Given the description of an element on the screen output the (x, y) to click on. 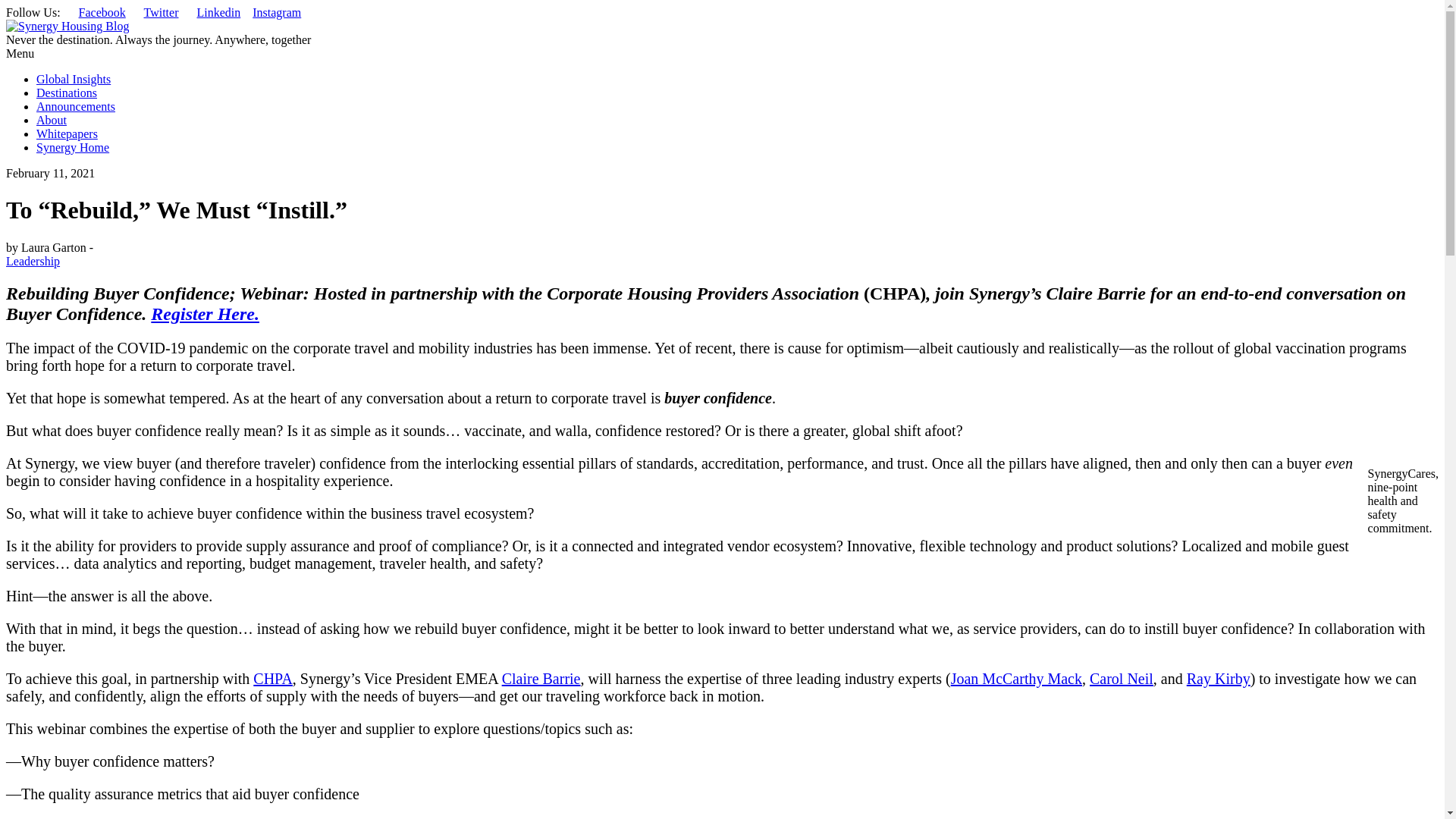
Global Insights (73, 78)
Announcements (75, 106)
Joan McCarthy Mack (1015, 678)
Instagram (276, 11)
Synergy Home (72, 146)
Twitter (161, 11)
Whitepapers (66, 133)
About (51, 119)
Ray Kirby (1218, 678)
Register Here. (205, 313)
